Given the description of an element on the screen output the (x, y) to click on. 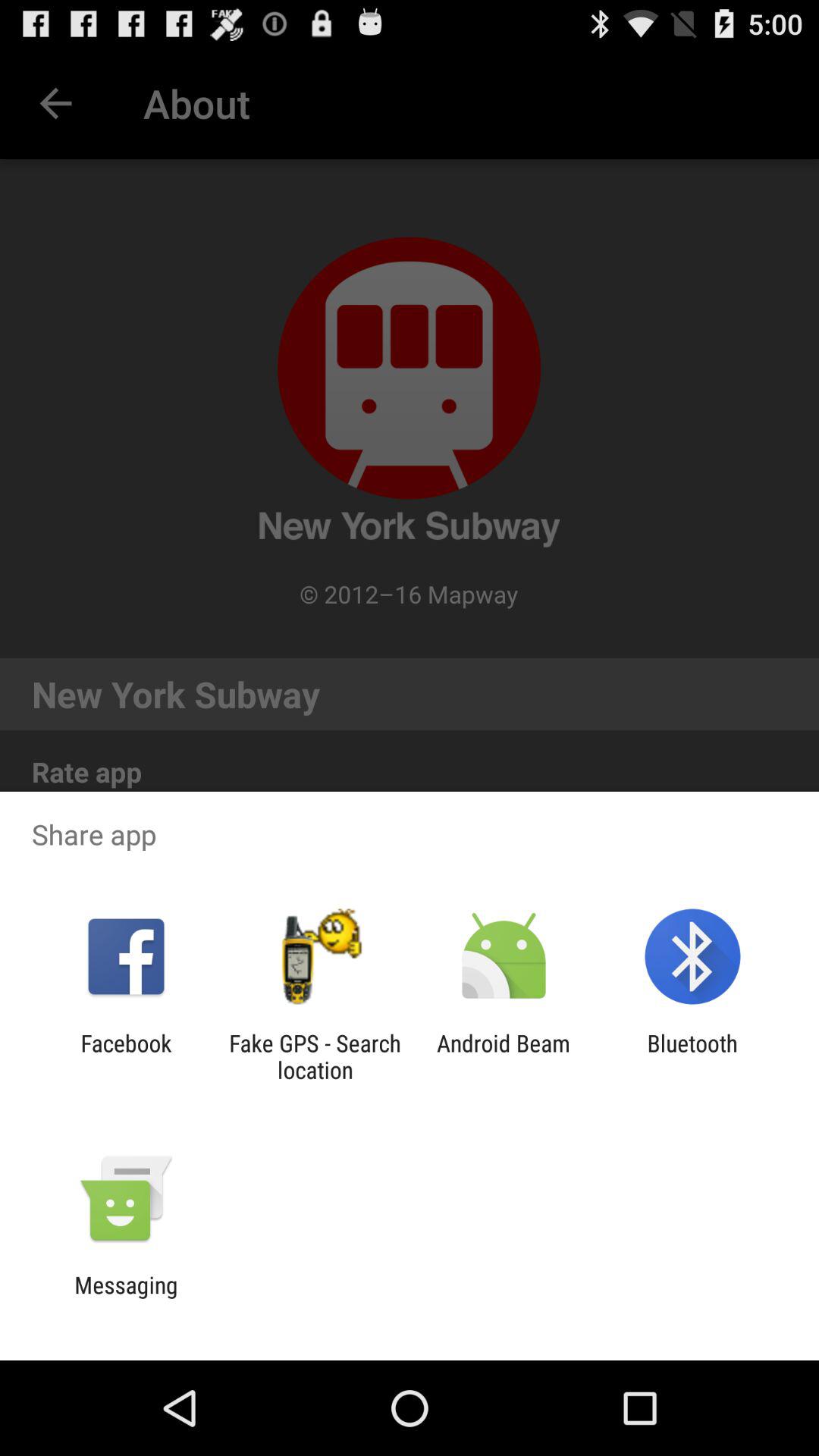
tap the messaging app (126, 1298)
